Given the description of an element on the screen output the (x, y) to click on. 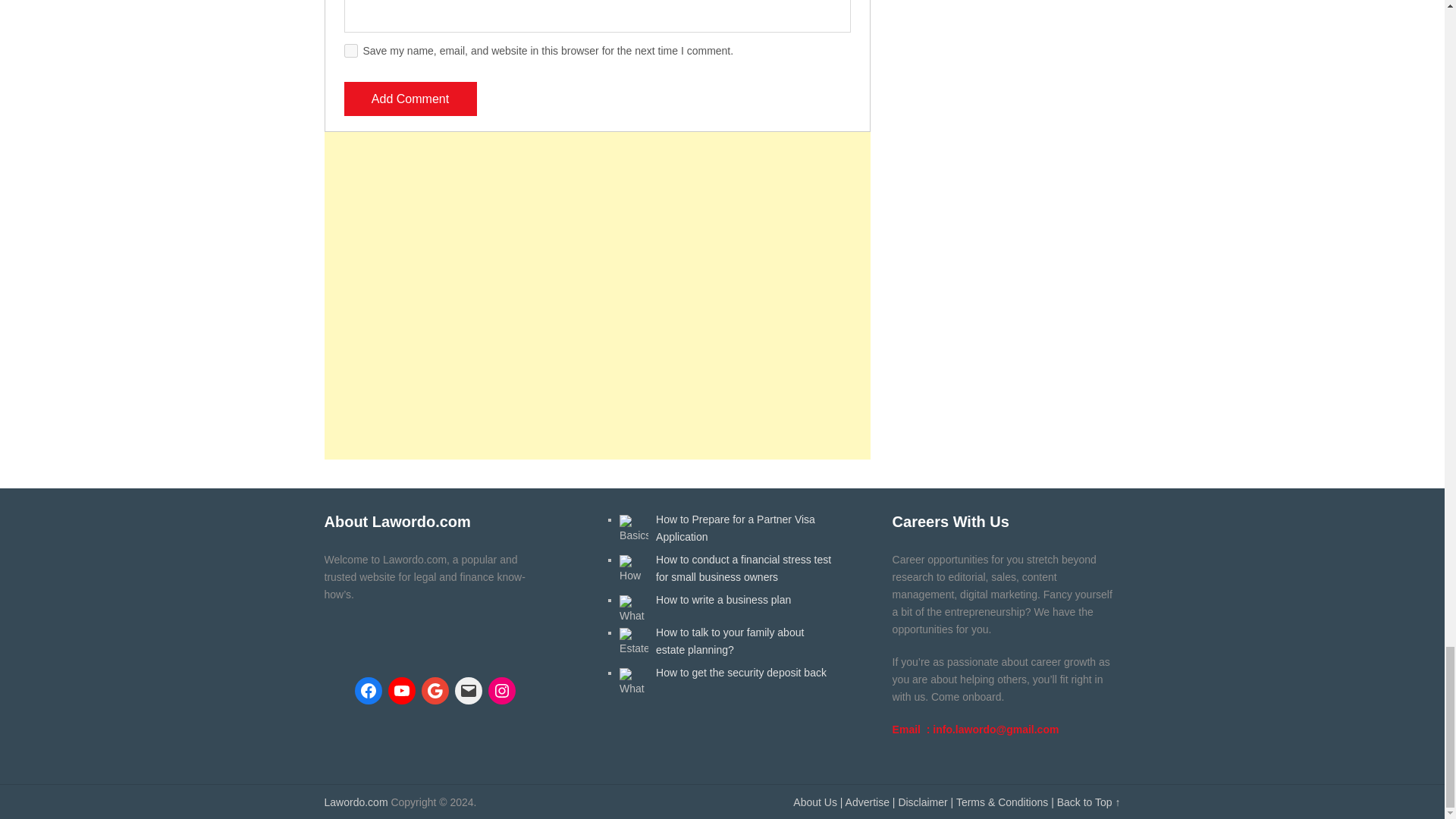
Add Comment (410, 98)
Add Comment (410, 98)
yes (350, 50)
